Given the description of an element on the screen output the (x, y) to click on. 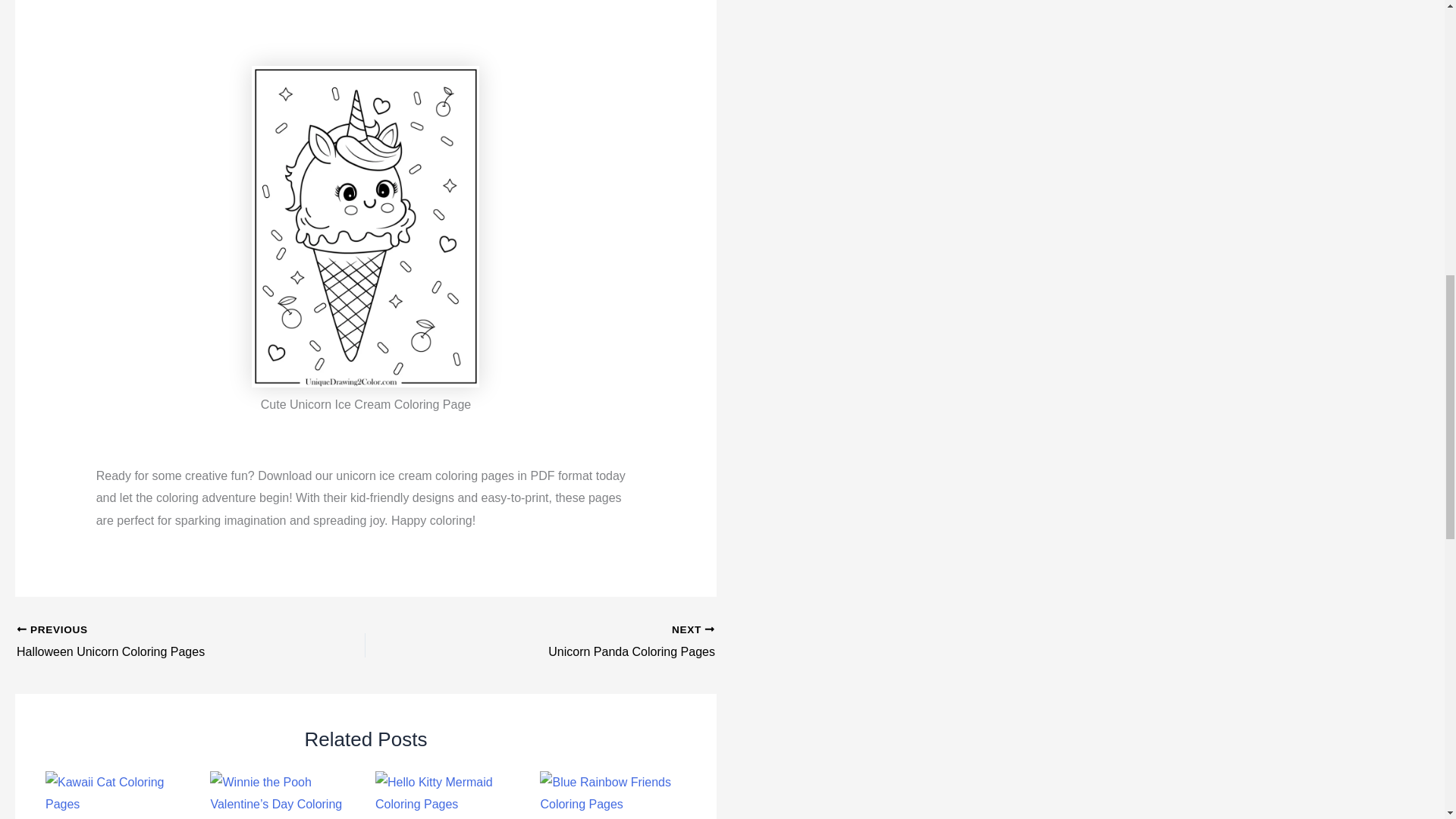
Unicorn Panda Coloring Pages (573, 641)
Halloween Unicorn Coloring Pages (156, 641)
